Given the description of an element on the screen output the (x, y) to click on. 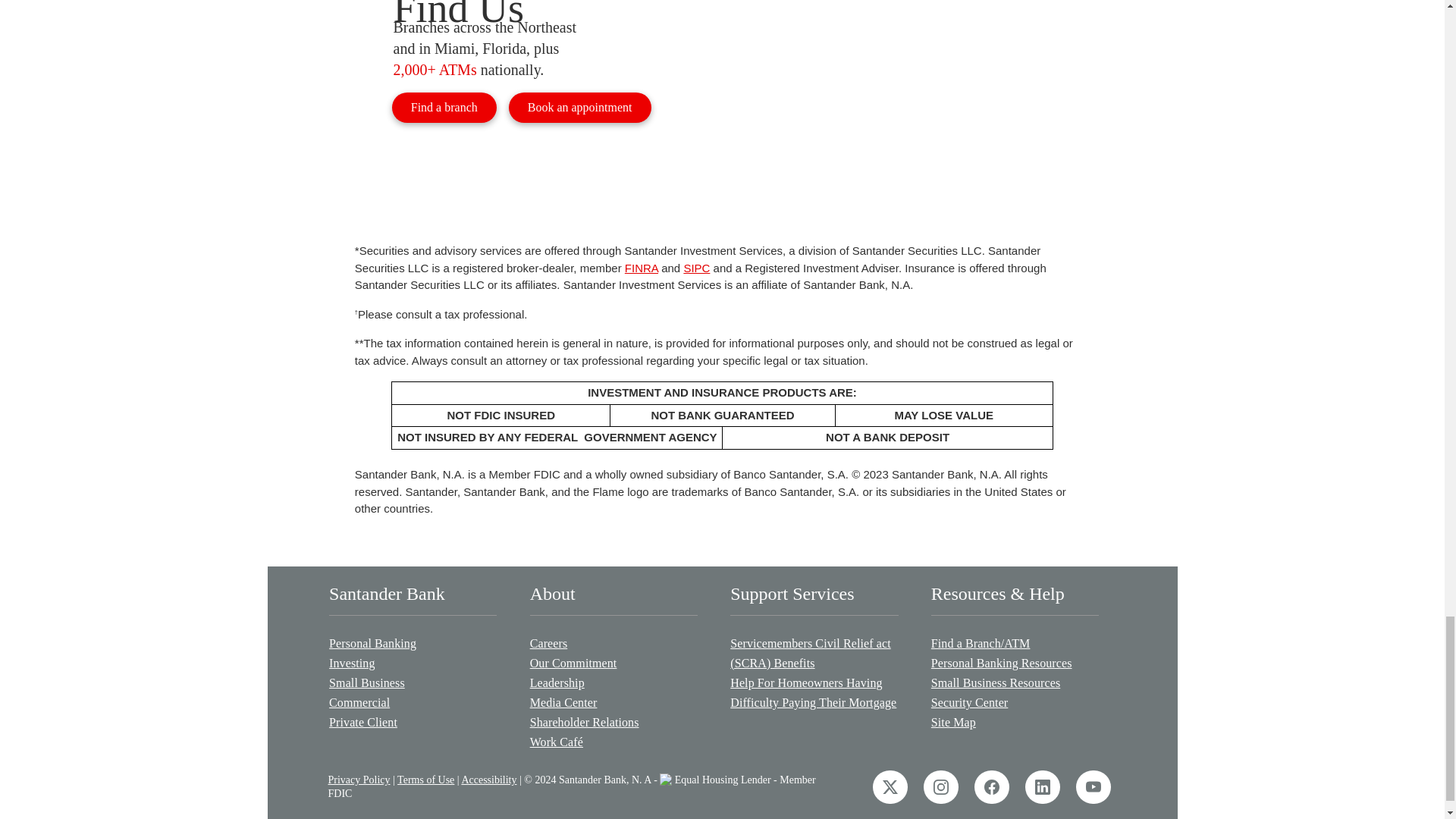
Careers (613, 643)
Media Center (613, 702)
FINRA (641, 267)
Private Client (412, 722)
SIPC (696, 267)
Find a branch (443, 106)
Leadership (613, 682)
Personal Banking (412, 643)
Small Business (412, 682)
Investing (412, 663)
Our Commitment (613, 663)
Book an appointment (579, 106)
Commercial (412, 702)
